Given the description of an element on the screen output the (x, y) to click on. 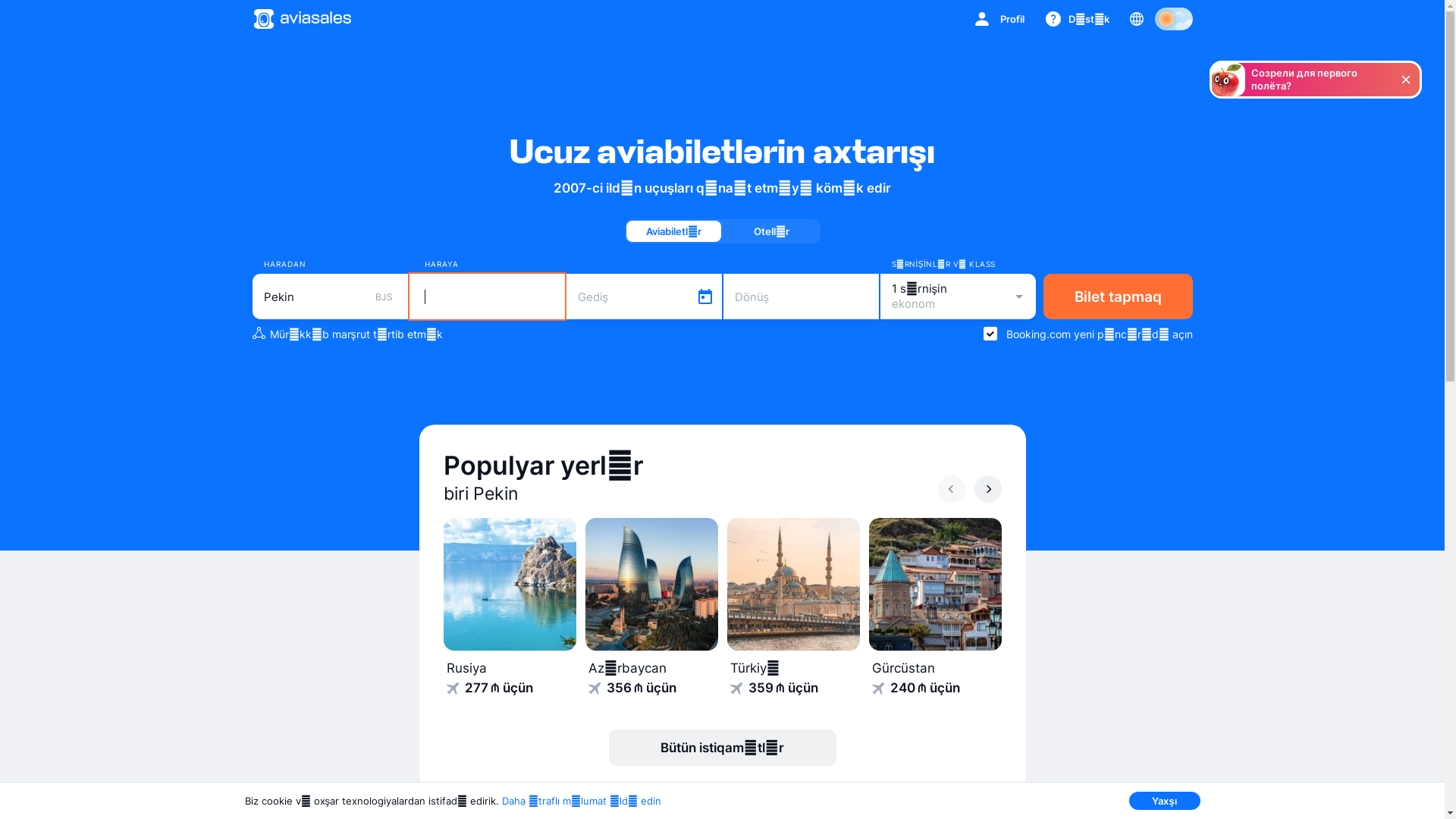
Bilet tapmaq Element type: text (1117, 296)
Profil Element type: text (998, 18)
